Given the description of an element on the screen output the (x, y) to click on. 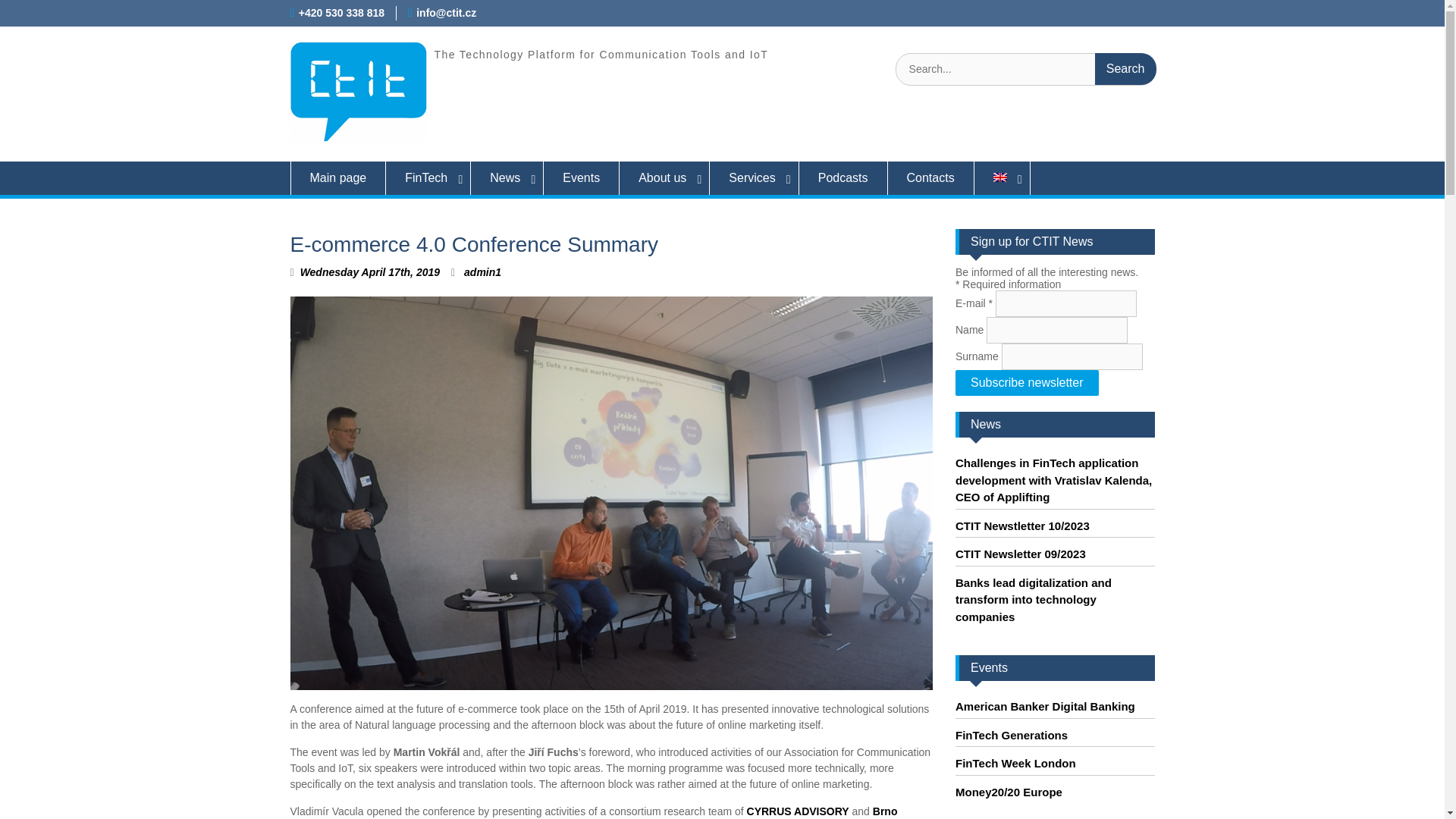
FinTech (427, 177)
Subscribe newsletter (1027, 382)
Search (1125, 69)
Events (581, 177)
Search for: (1025, 69)
Main page (337, 177)
About us (665, 177)
English (1002, 177)
Search (1125, 69)
News (506, 177)
Search (1125, 69)
Services (753, 177)
